Given the description of an element on the screen output the (x, y) to click on. 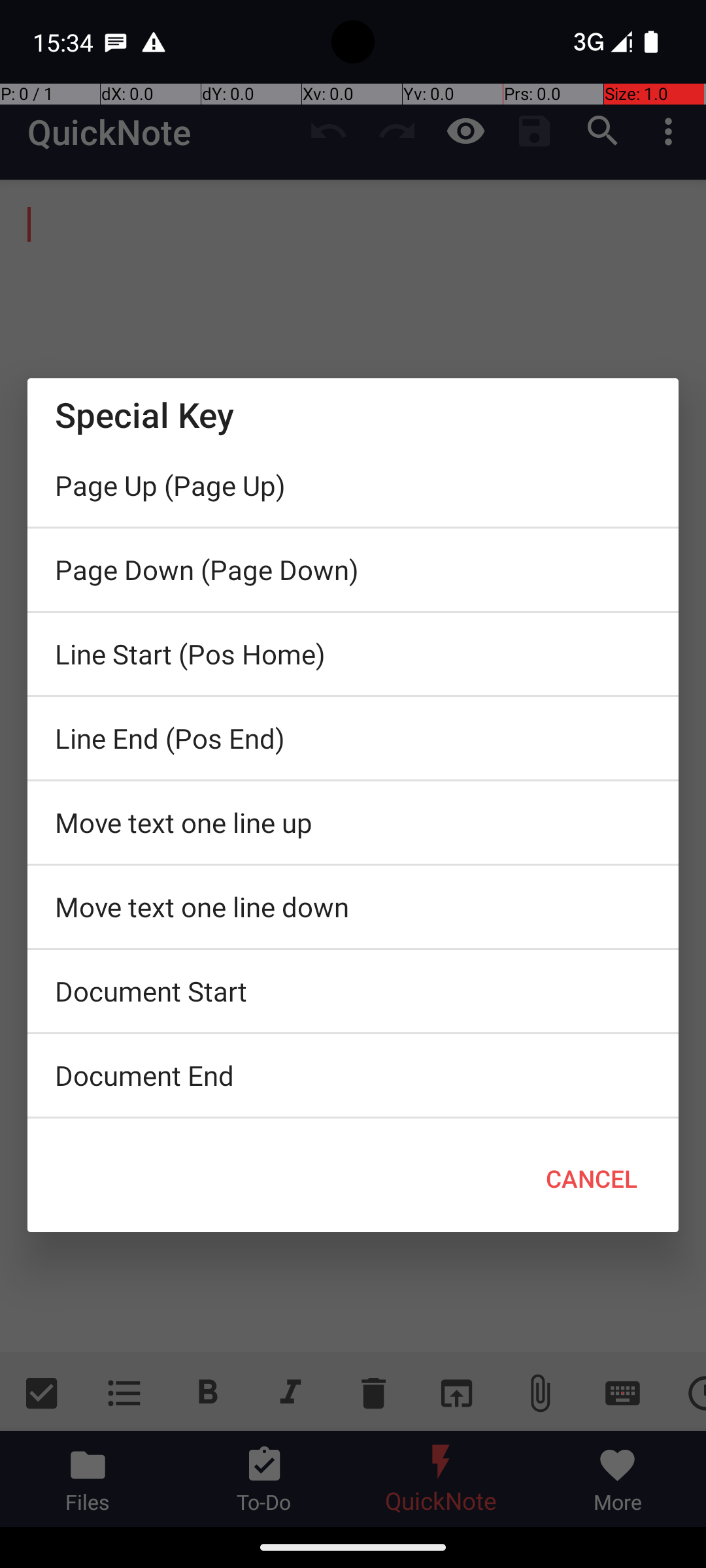
Page Up (Page Up) Element type: android.widget.TextView (352, 485)
Page Down (Page Down) Element type: android.widget.TextView (352, 569)
Line Start (Pos Home) Element type: android.widget.TextView (352, 653)
Line End (Pos End) Element type: android.widget.TextView (352, 738)
Document Start Element type: android.widget.TextView (352, 990)
Document End Element type: android.widget.TextView (352, 1075)
Select all (Ctrl+A) Element type: android.widget.TextView (352, 1121)
